Given the description of an element on the screen output the (x, y) to click on. 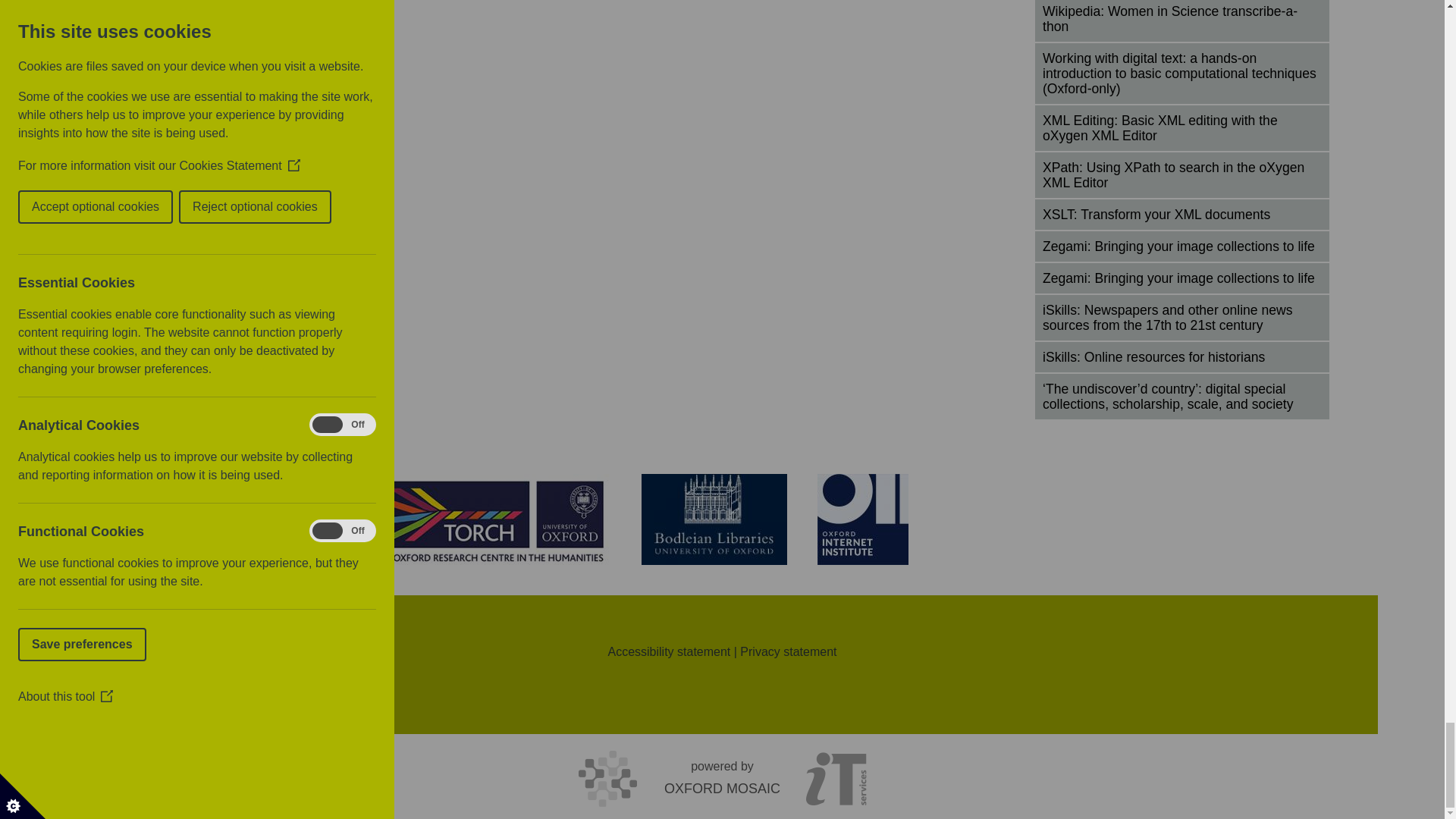
Bodleian Libraries (714, 519)
Oxford Internet Institute (862, 519)
Oxford e-Research Centre (168, 519)
IT Services (289, 519)
TORCH (487, 519)
